Given the description of an element on the screen output the (x, y) to click on. 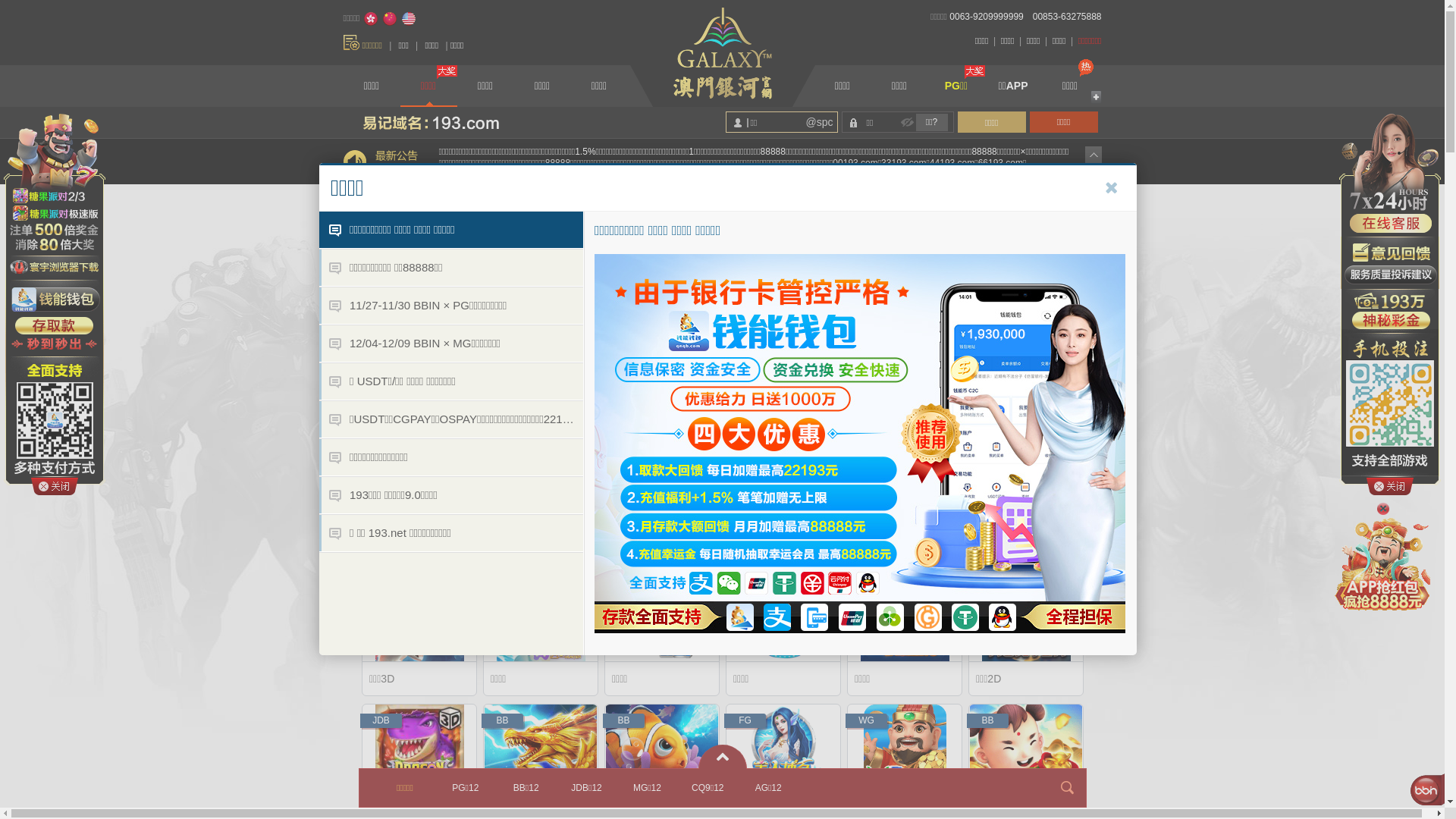
English Element type: hover (408, 18)
